Given the description of an element on the screen output the (x, y) to click on. 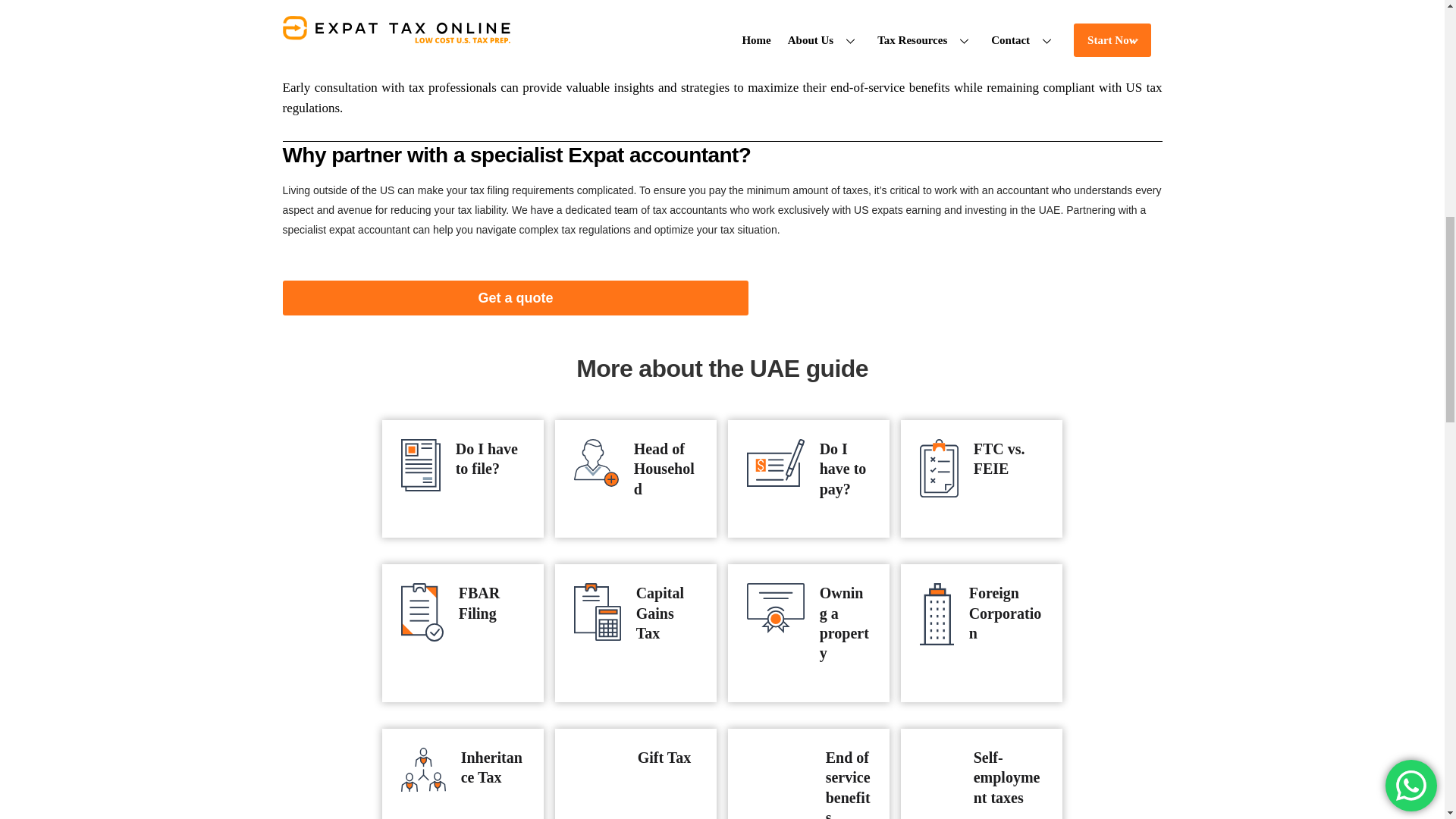
Get a quote (515, 298)
Head of Household (663, 468)
Foreign Corporation (1005, 612)
FTC vs. FEIE (999, 458)
Do I have to file? (486, 458)
FBAR Filing (478, 602)
